Given the description of an element on the screen output the (x, y) to click on. 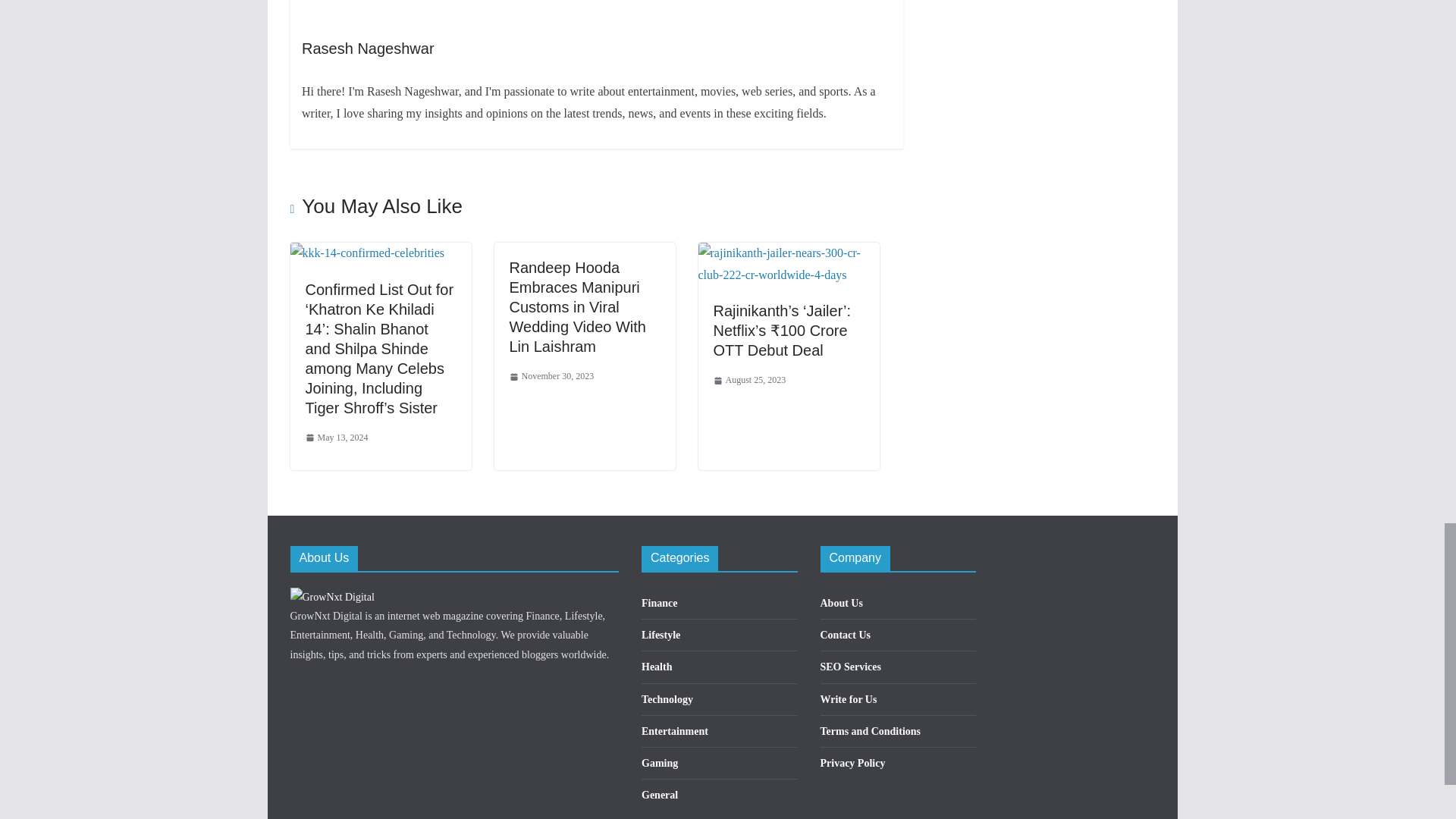
3:48 pm (551, 376)
3:30 pm (336, 437)
